Given the description of an element on the screen output the (x, y) to click on. 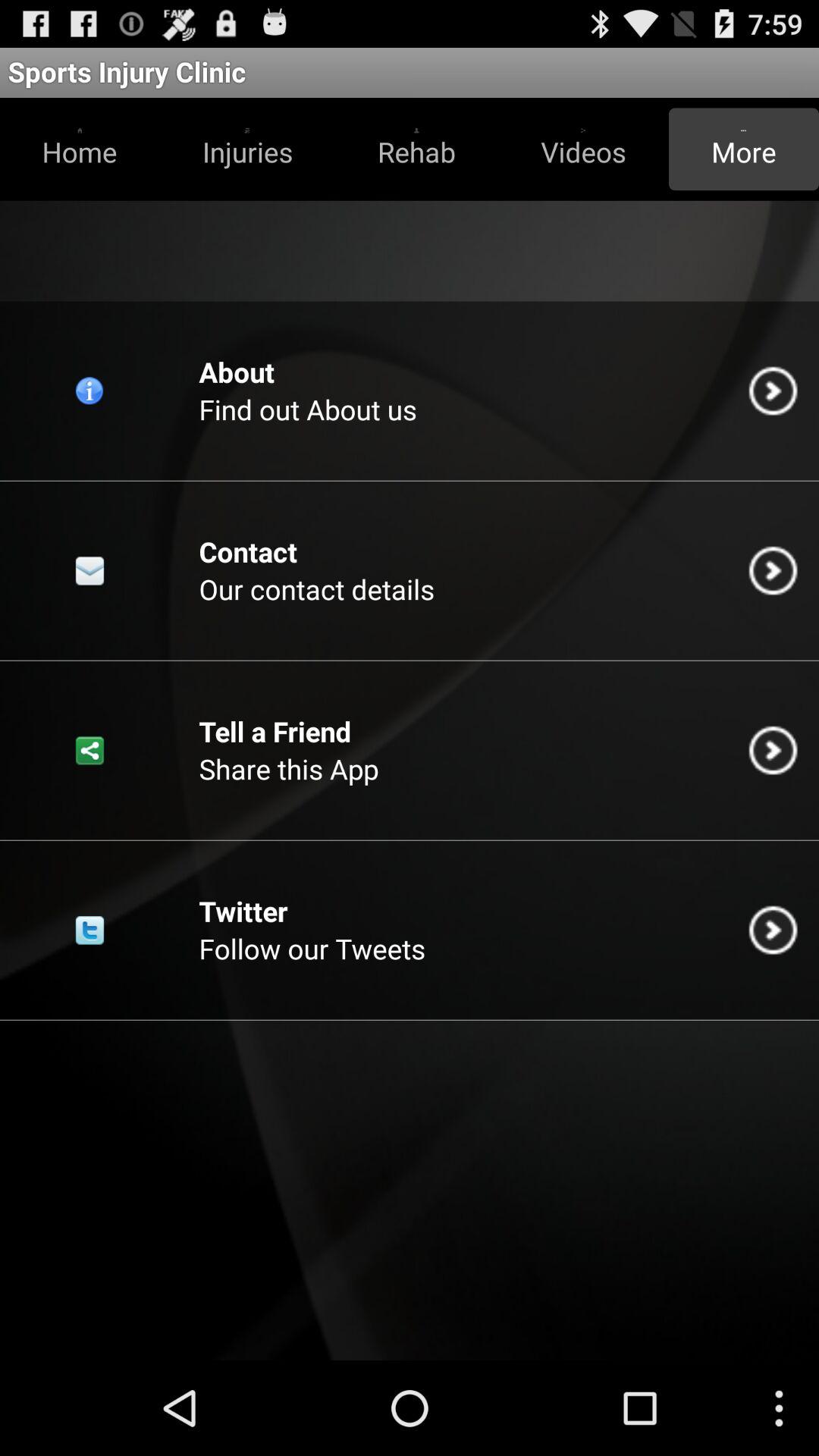
flip until the home icon (79, 149)
